Given the description of an element on the screen output the (x, y) to click on. 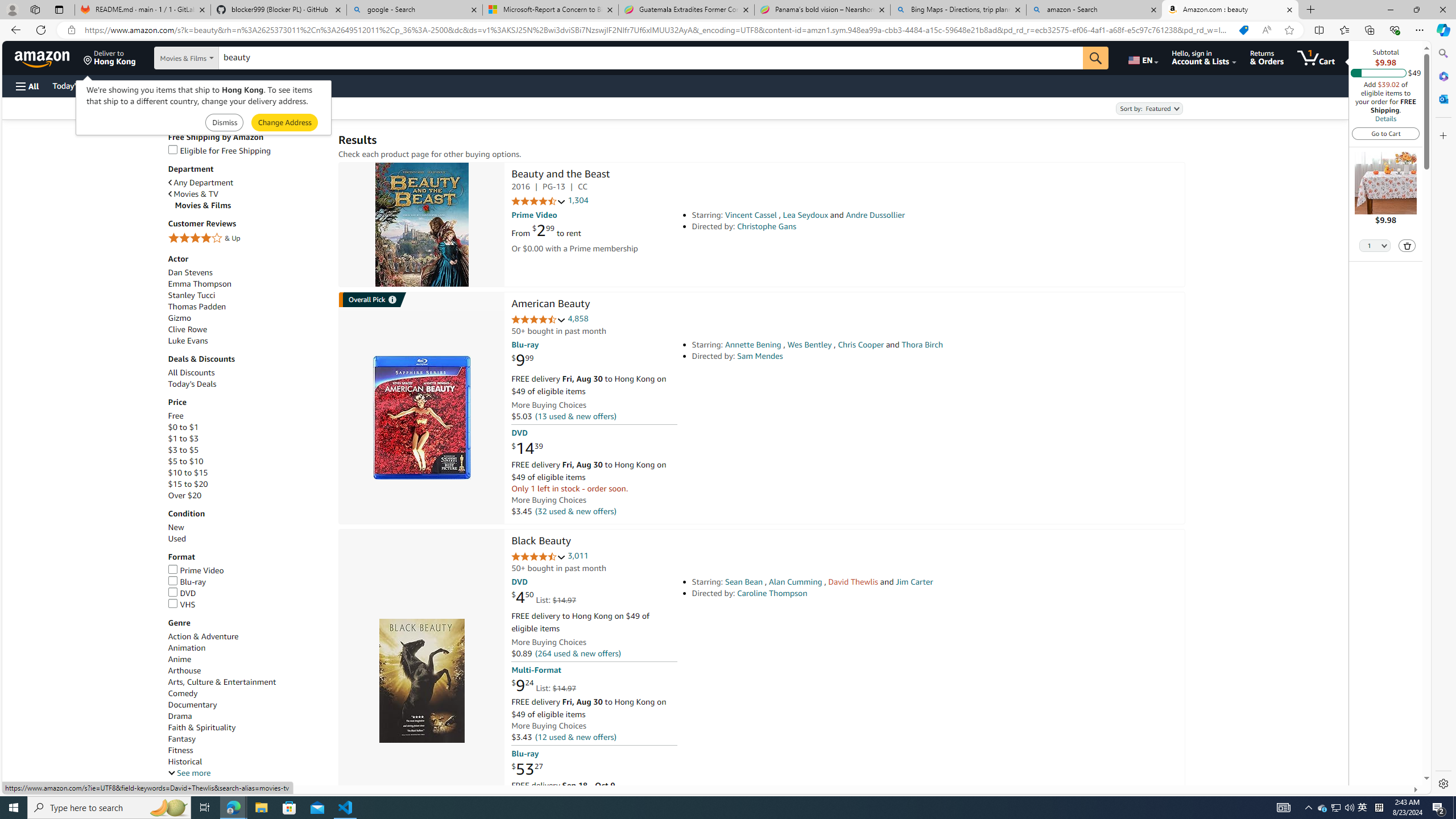
$14.39 (527, 448)
Fantasy (181, 738)
Jim Carter (914, 581)
Documentary (247, 705)
American Beauty (421, 417)
4.6 out of 5 stars (538, 319)
1,304 (577, 200)
DVD (247, 593)
$1 to $3 (183, 438)
$9.24 List: $14.97 (543, 685)
Thomas Padden (247, 307)
Arts, Culture & Entertainment (221, 681)
New (175, 527)
Anime (179, 659)
